Given the description of an element on the screen output the (x, y) to click on. 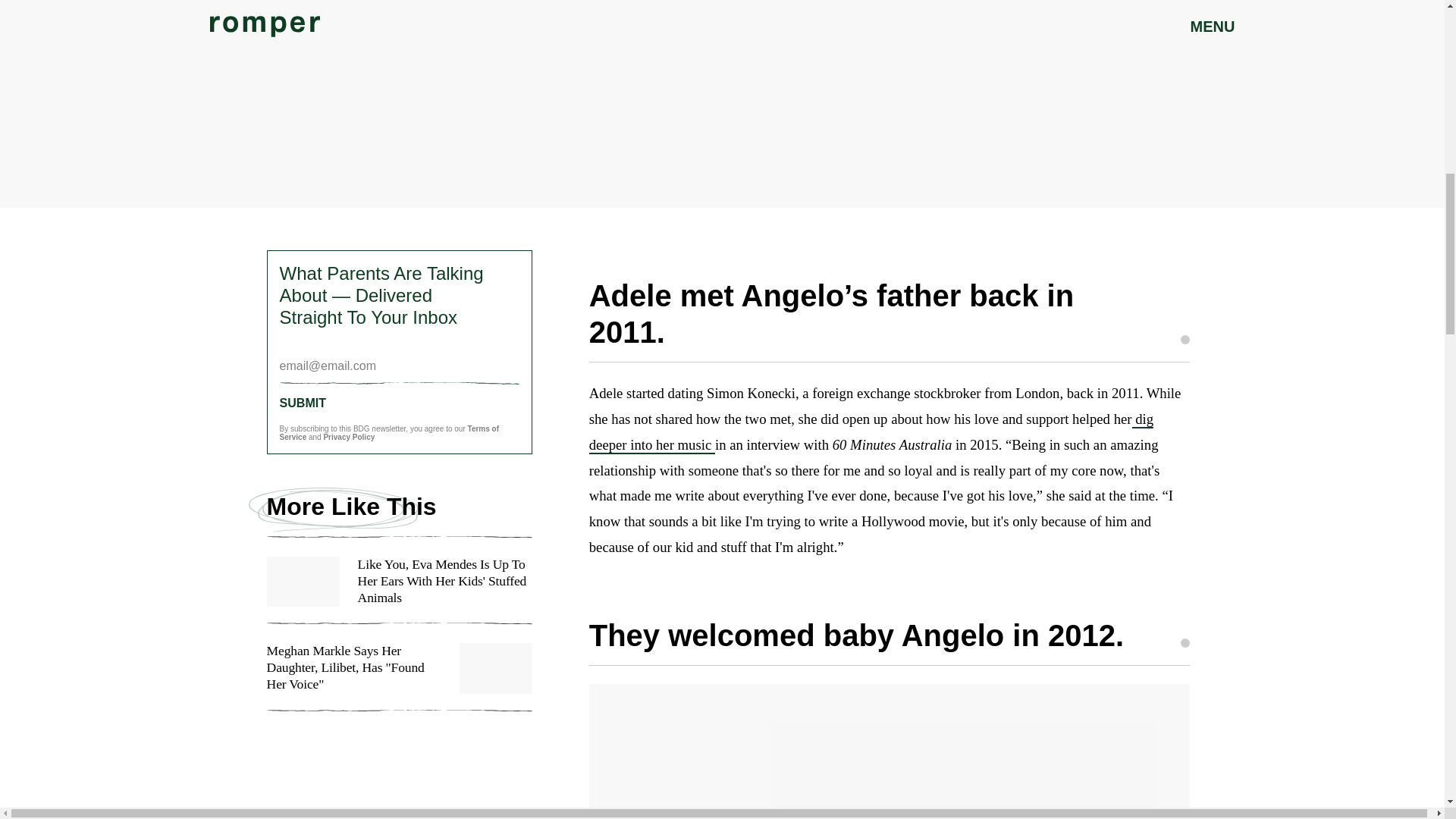
dig deeper into her music (871, 432)
SUBMIT (399, 403)
Terms of Service (389, 433)
Privacy Policy (348, 437)
